Given the description of an element on the screen output the (x, y) to click on. 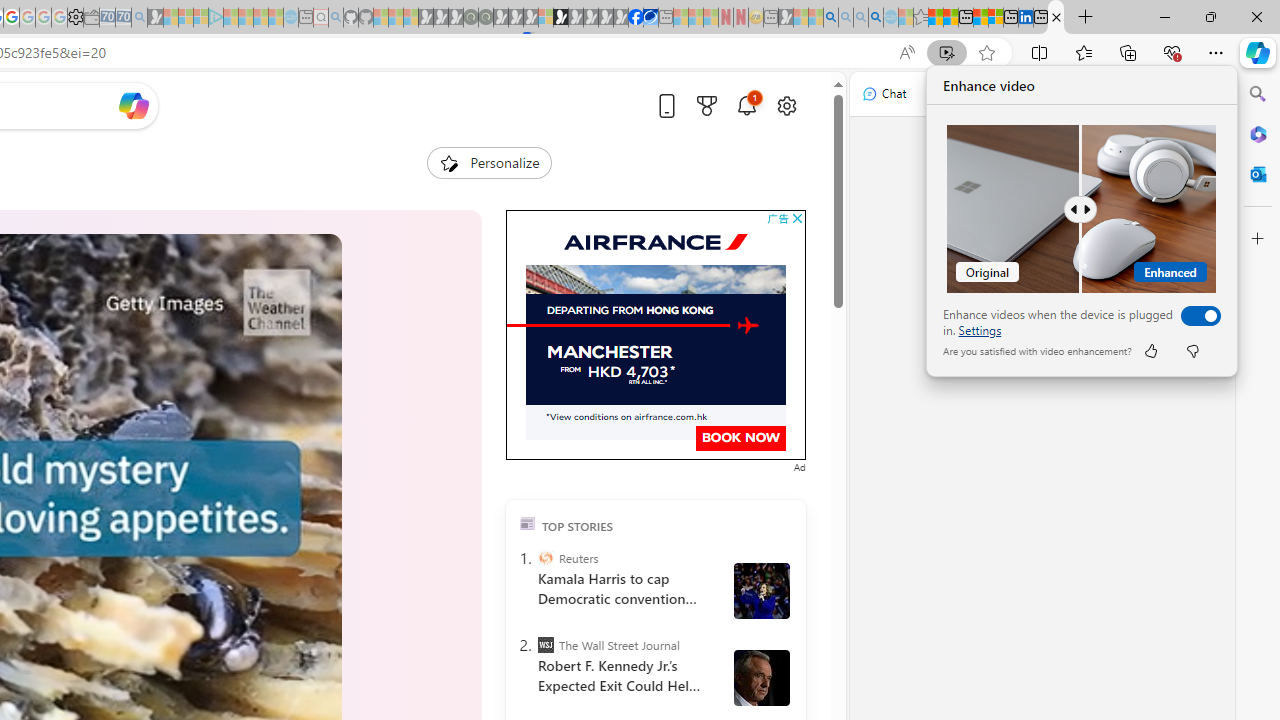
Favorites - Sleeping (920, 17)
Enhance videos (1196, 316)
like (1150, 350)
New tab - Sleeping (771, 17)
